Given the description of an element on the screen output the (x, y) to click on. 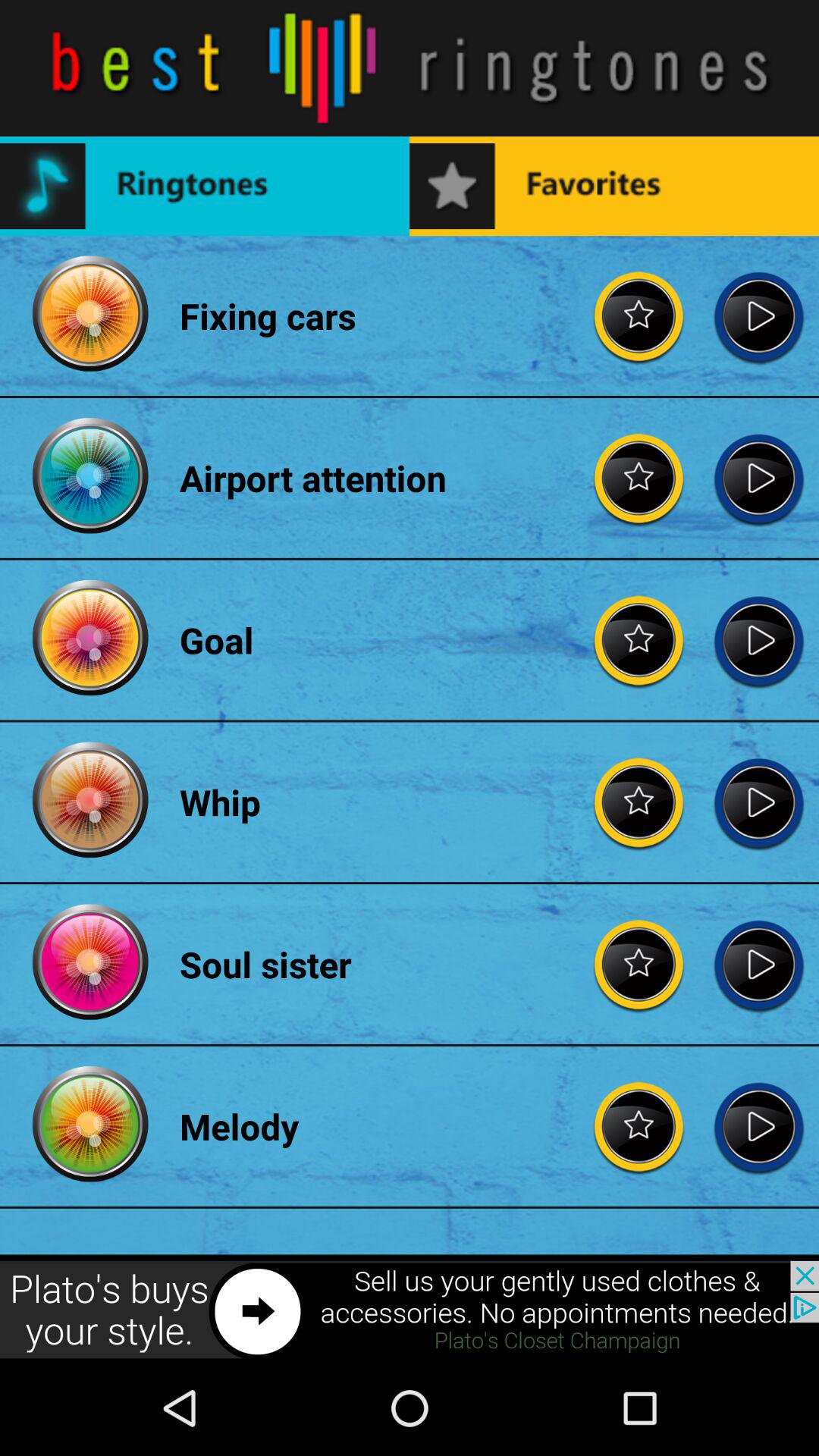
favorite (639, 477)
